Given the description of an element on the screen output the (x, y) to click on. 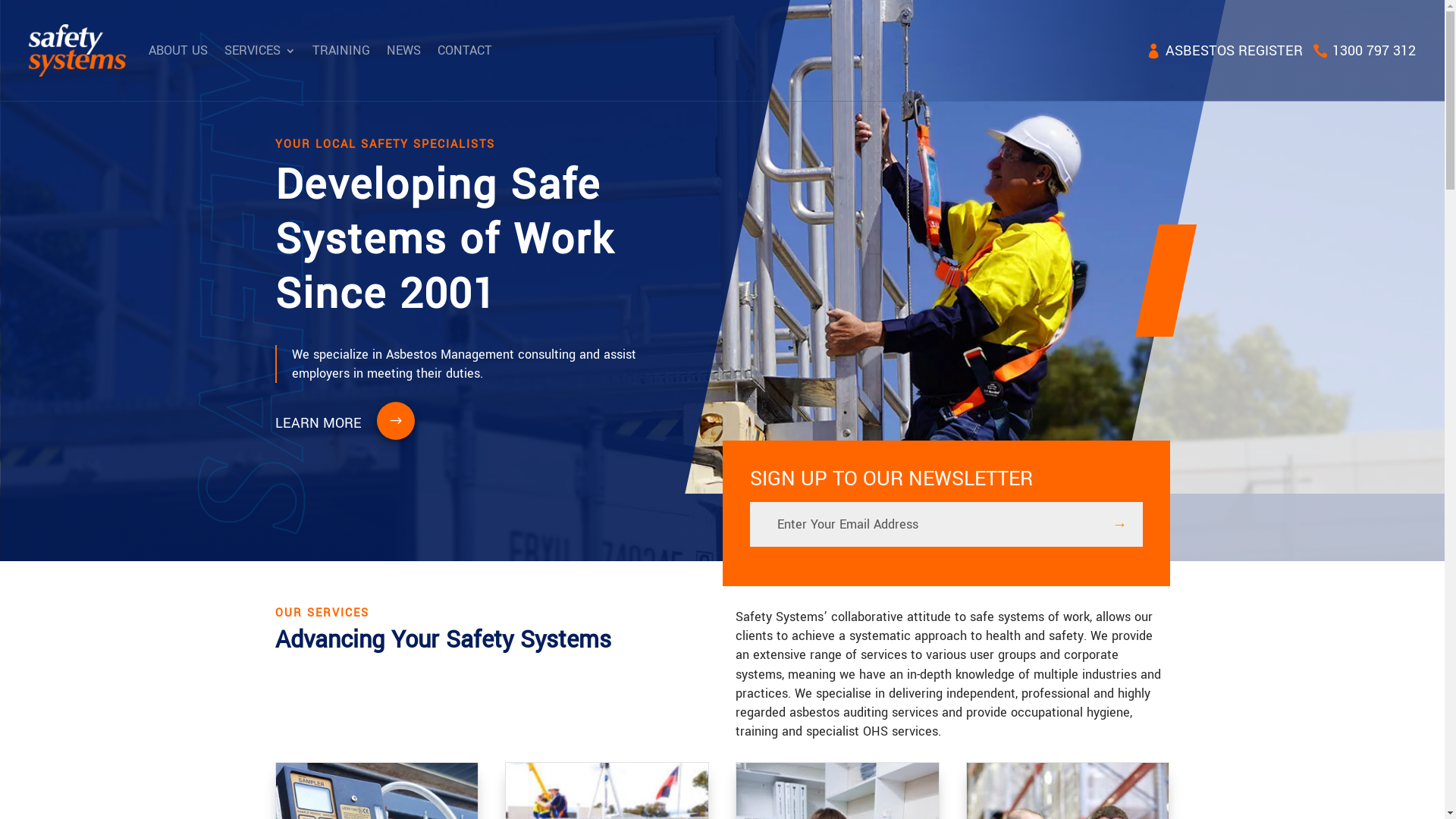
1300 797 312 Element type: text (1358, 50)
LEARN MORE Element type: text (332, 422)
ABOUT US Element type: text (177, 50)
NEWS Element type: text (403, 50)
TRAINING Element type: text (341, 50)
CONTACT Element type: text (464, 50)
SERVICES Element type: text (259, 50)
ASBESTOS REGISTER Element type: text (1229, 50)
